Given the description of an element on the screen output the (x, y) to click on. 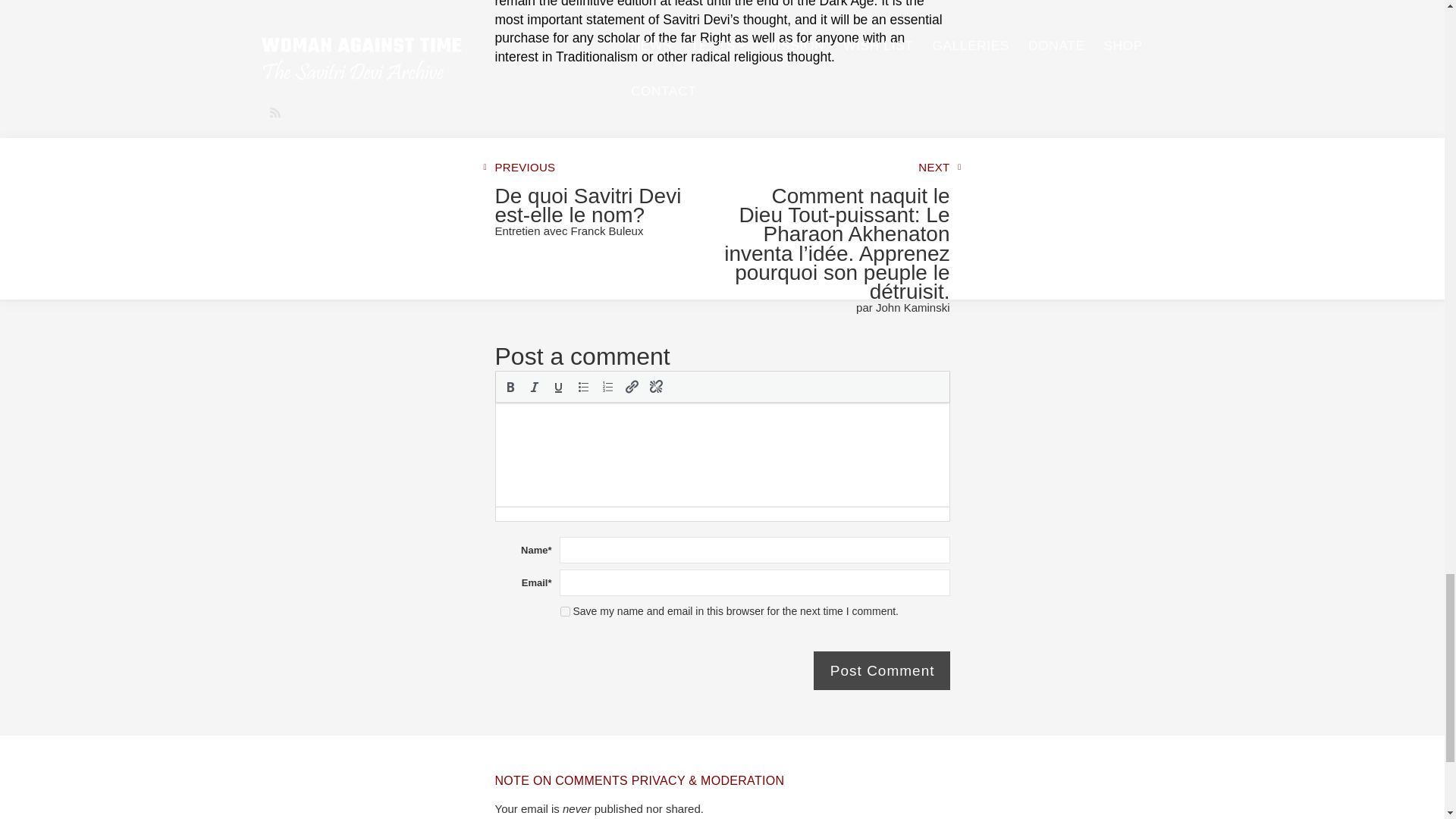
Post Comment (881, 670)
yes (564, 611)
Rich Text Area. Press Alt-Shift-H for help. (722, 454)
